Given the description of an element on the screen output the (x, y) to click on. 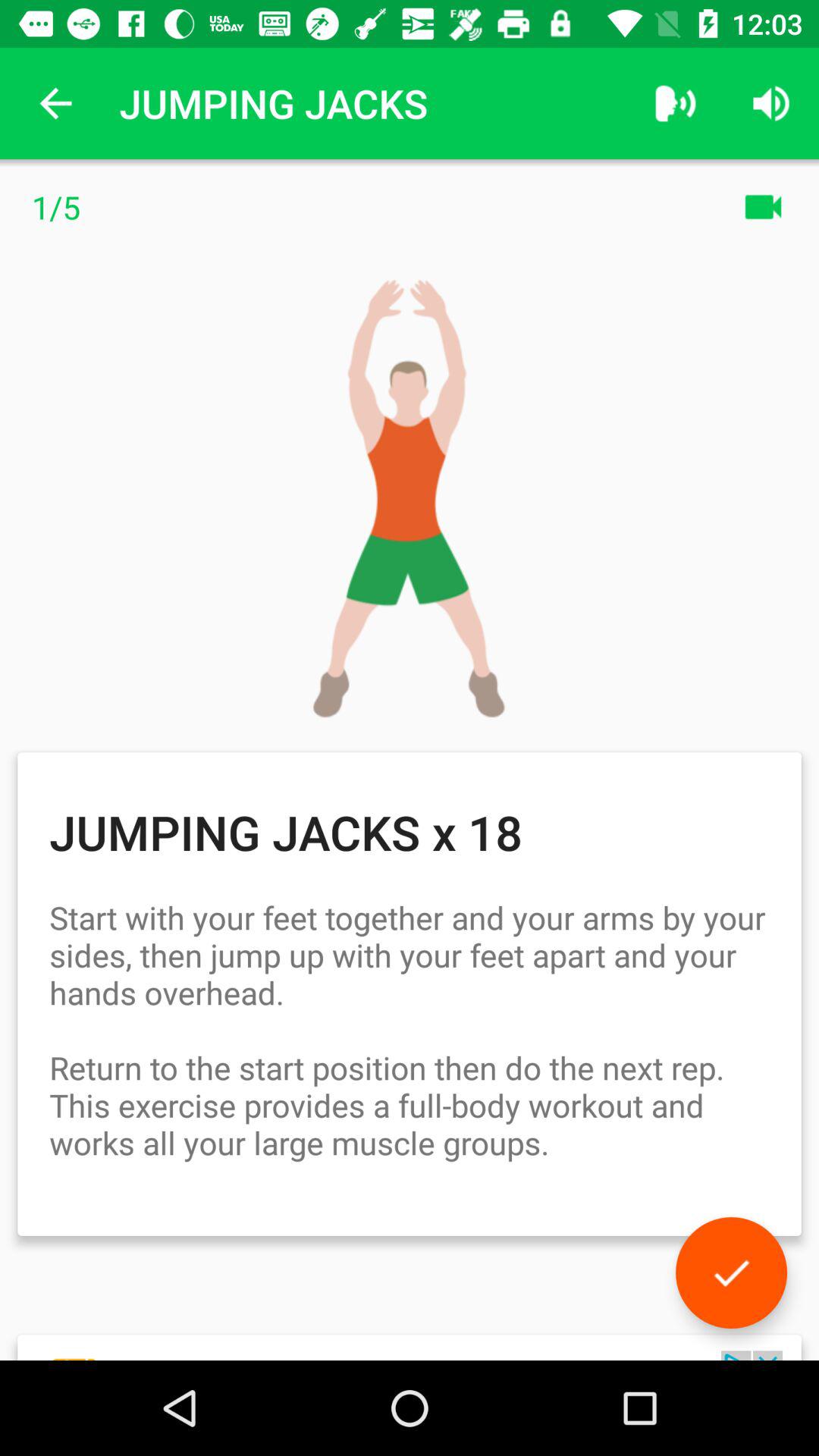
add to favorites (731, 1272)
